Given the description of an element on the screen output the (x, y) to click on. 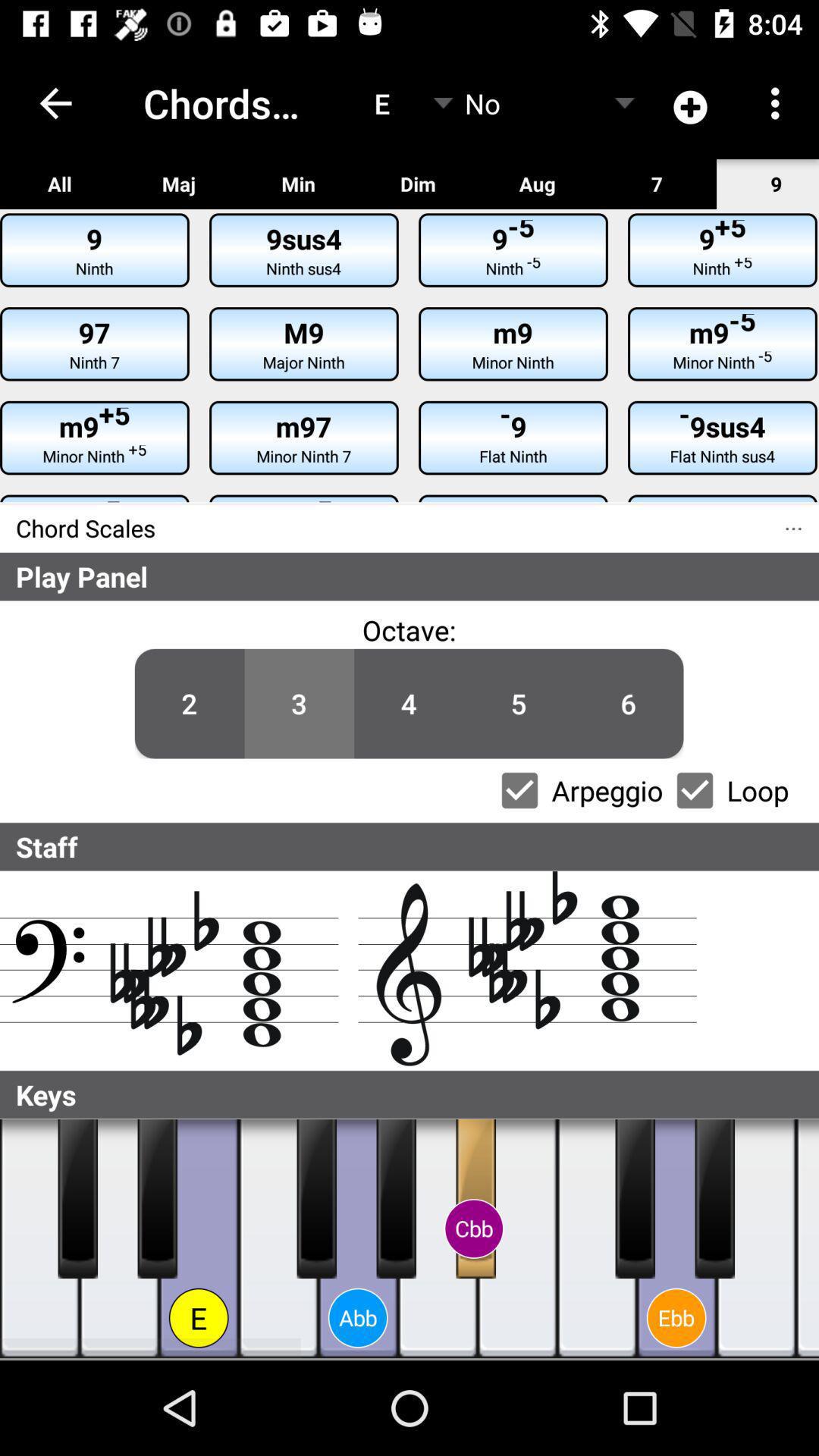
play key (39, 1238)
